Given the description of an element on the screen output the (x, y) to click on. 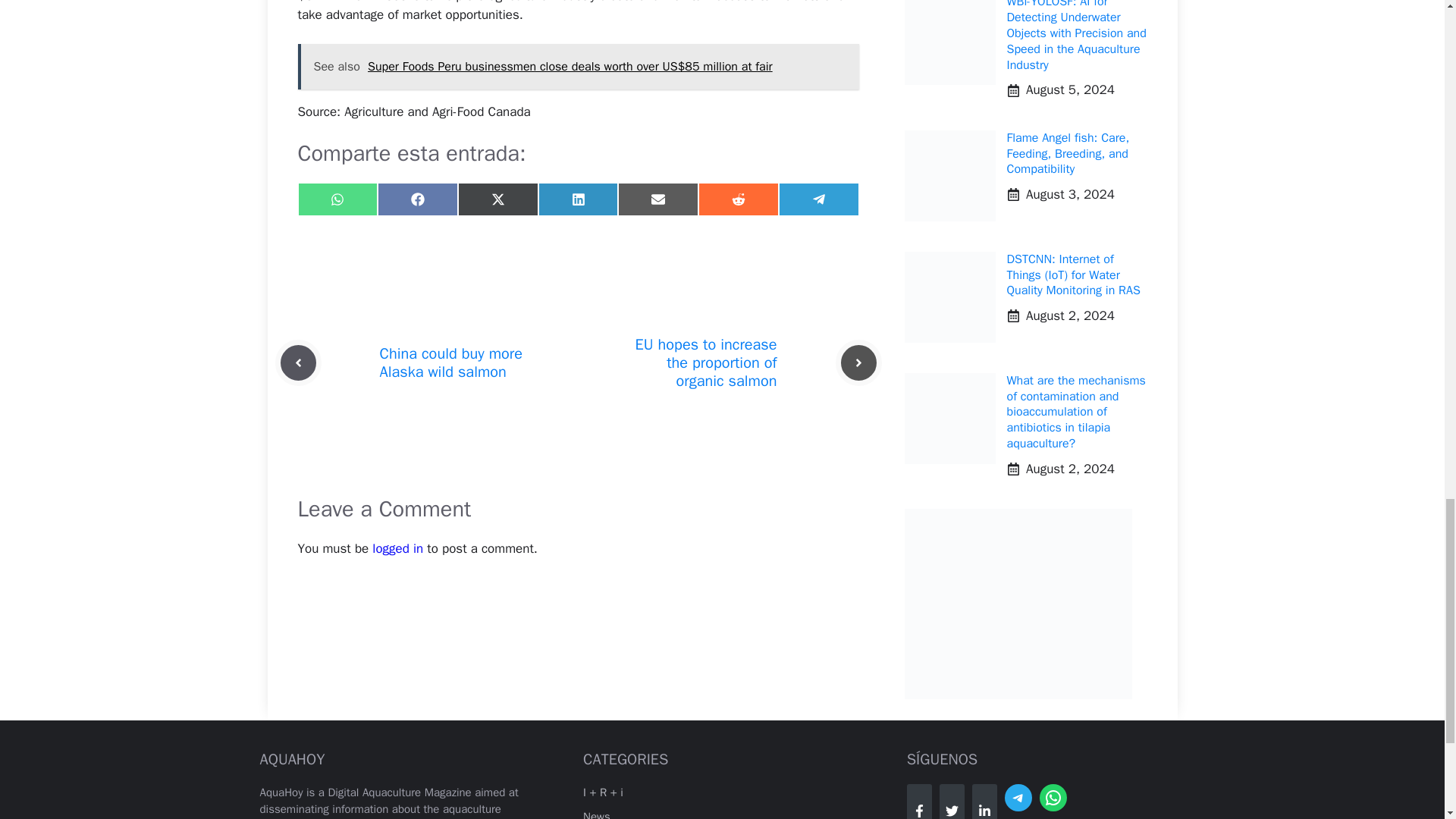
EU hopes to increase the proportion of organic salmon (705, 362)
Share on Reddit (738, 199)
Share on Telegram (818, 199)
Share on LinkedIn (578, 199)
Share on Facebook (417, 199)
logged in (397, 548)
Share on WhatsApp (337, 199)
Share on Email (657, 199)
China could buy more Alaska wild salmon (450, 362)
